Given the description of an element on the screen output the (x, y) to click on. 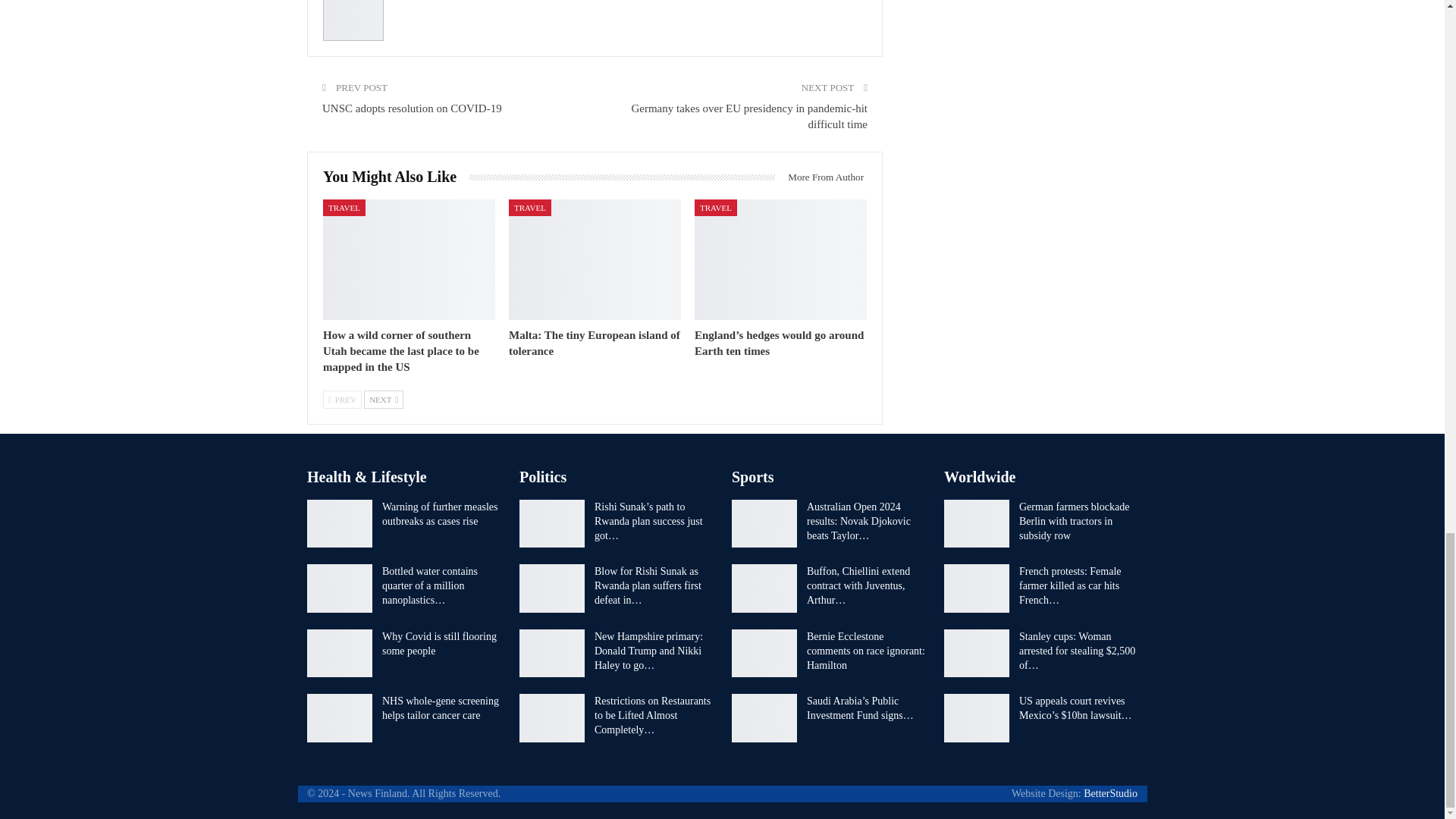
Malta: The tiny European island of tolerance (594, 259)
Malta: The tiny European island of tolerance (593, 343)
